Given the description of an element on the screen output the (x, y) to click on. 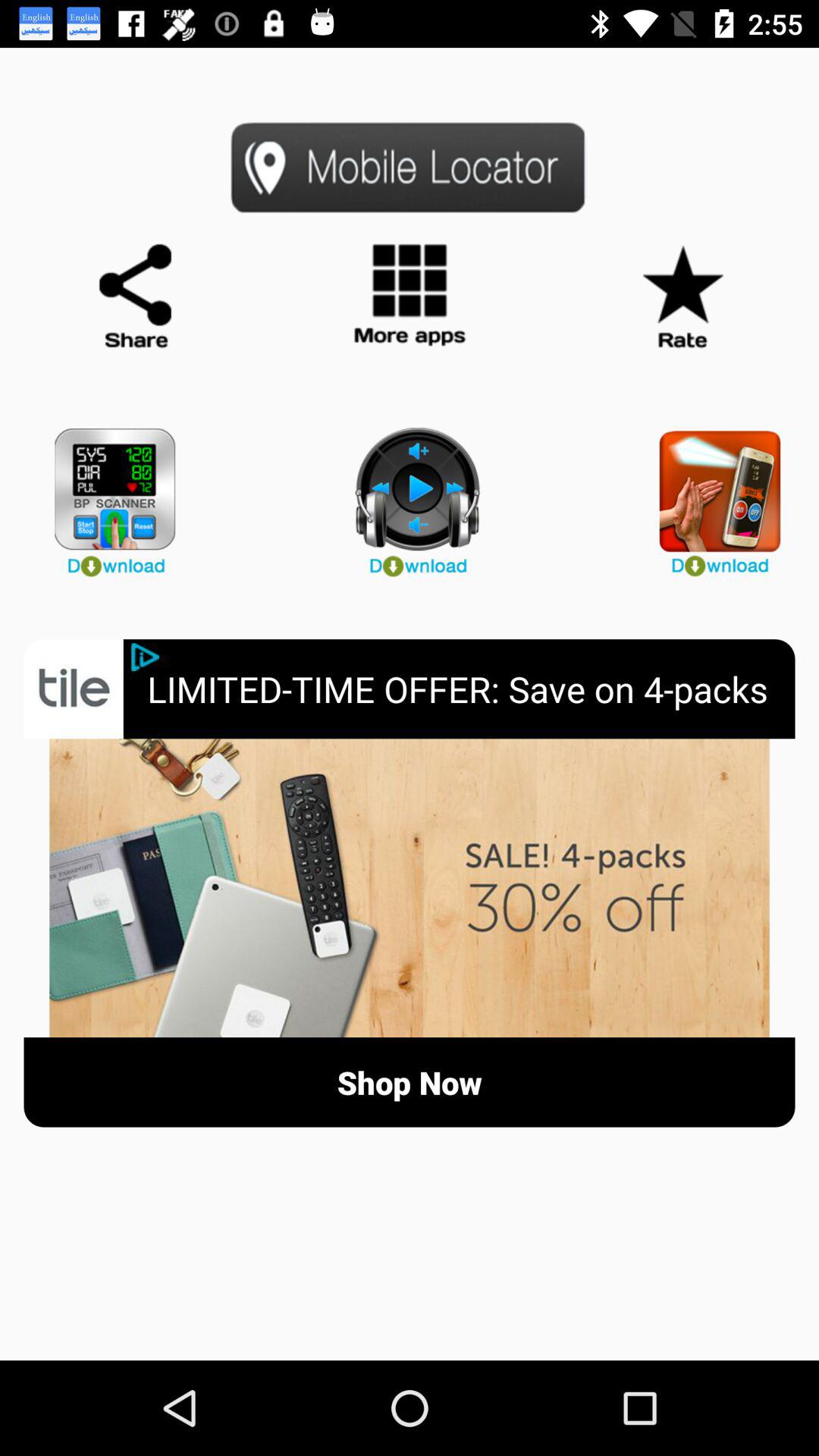
go to offer (409, 887)
